Given the description of an element on the screen output the (x, y) to click on. 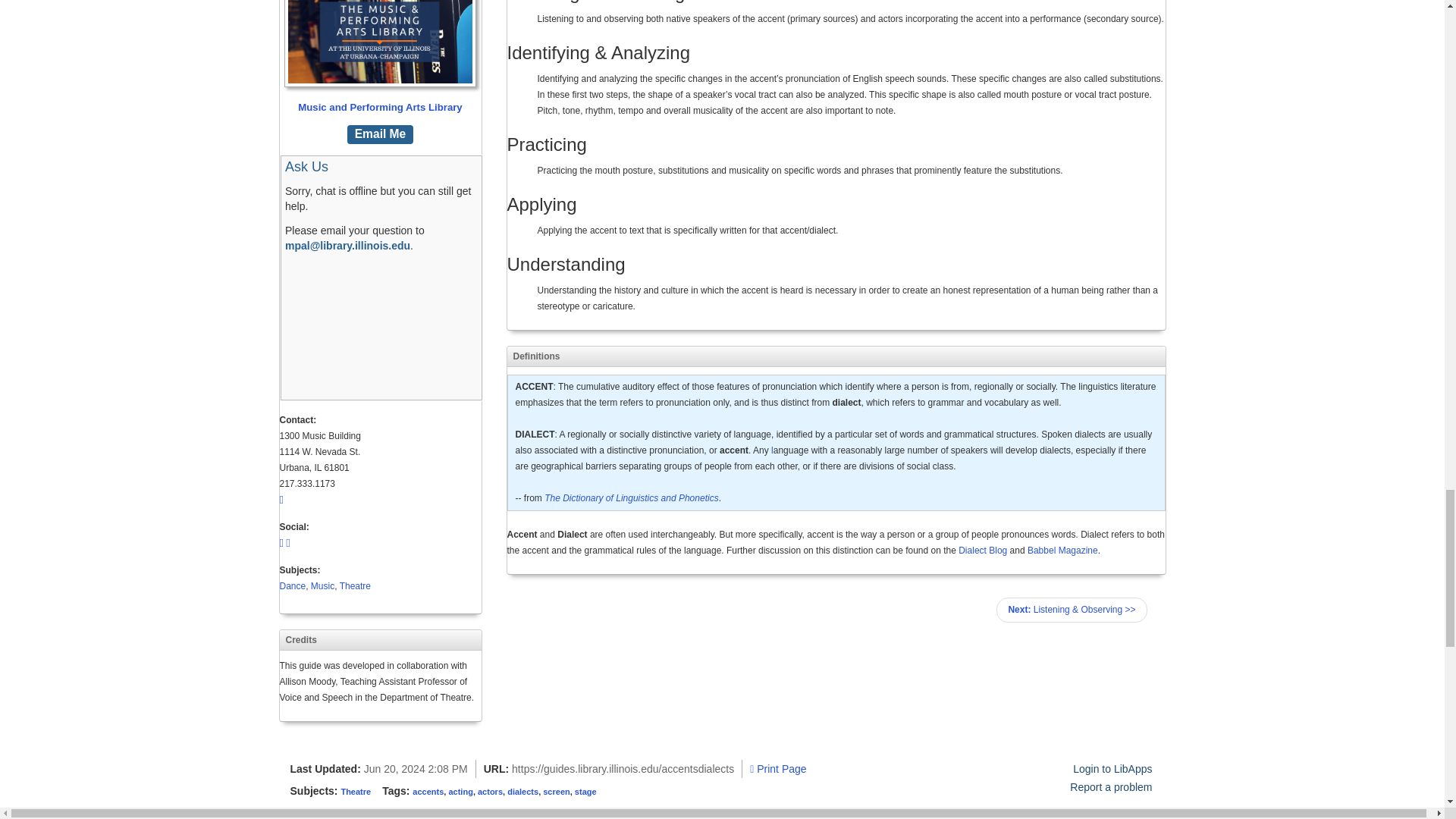
acting (777, 768)
Login to LibApps (459, 791)
Music and Performing Arts Library (1112, 768)
Theatre (379, 58)
accents (355, 791)
stage (428, 791)
Dance (585, 791)
Report a problem (292, 585)
Dialect Blog (1110, 787)
